Given the description of an element on the screen output the (x, y) to click on. 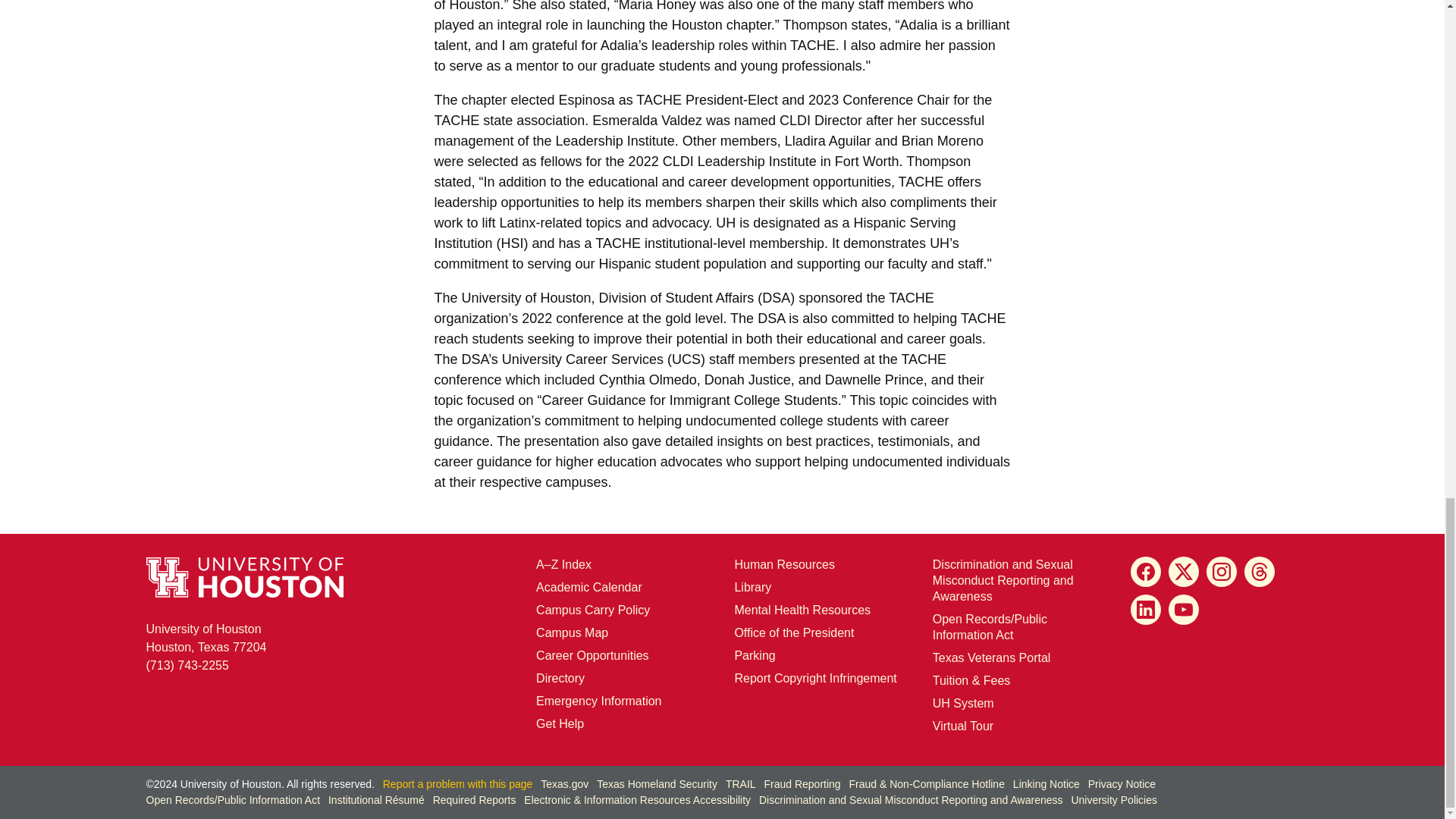
LinkedIn (1145, 609)
Virtual Tour (962, 725)
University of Houston (939, 242)
UH System (963, 703)
Facebook (1145, 571)
Academic Calendar (588, 586)
Library (752, 586)
Campus Carry Policy (592, 609)
Discrimination and Sexual Misconduct Reporting and Awareness (1003, 579)
Career Opportunities (592, 655)
Directory (560, 677)
X (1183, 571)
